Given the description of an element on the screen output the (x, y) to click on. 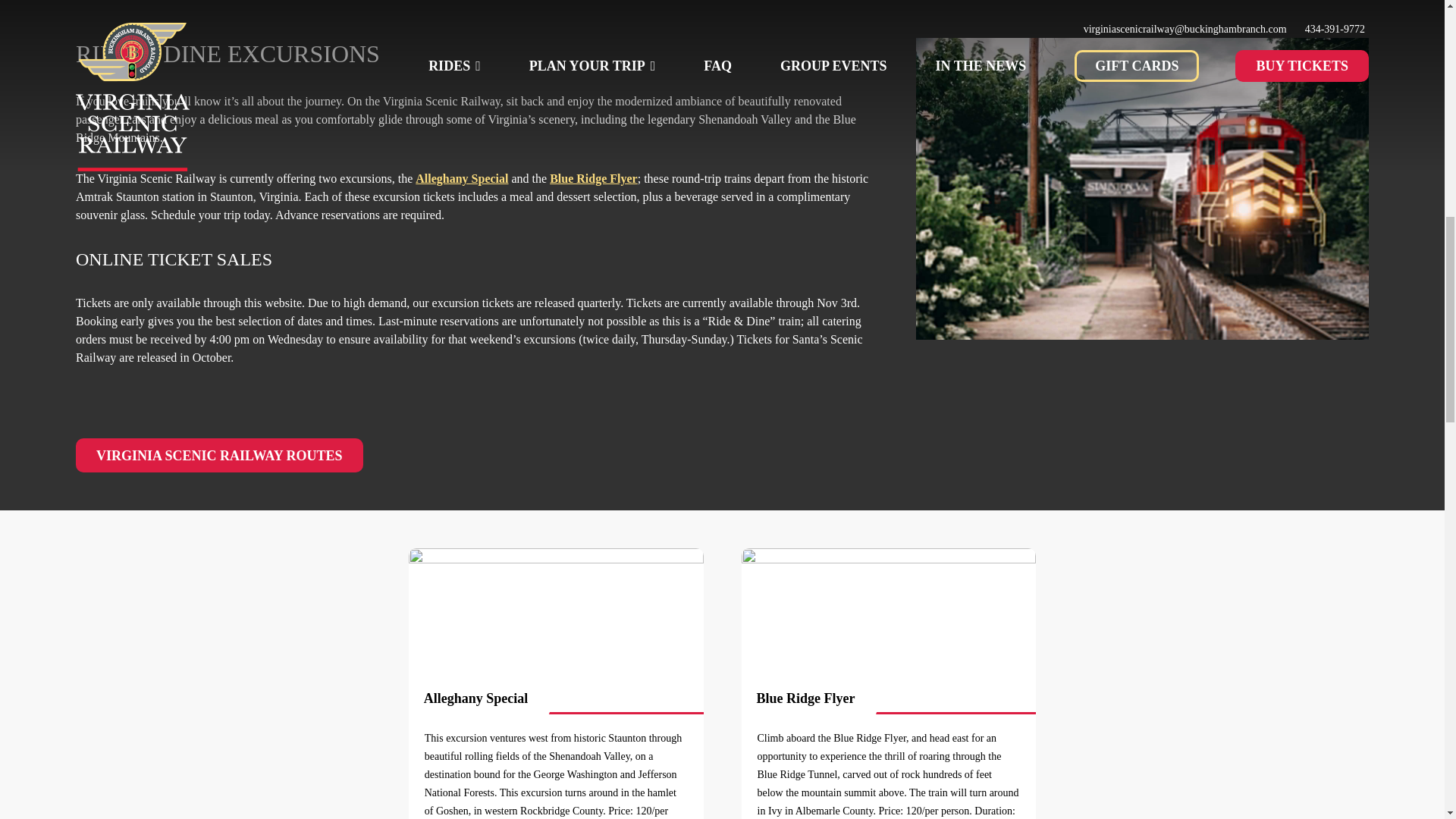
Blue Ridge Flyer (593, 178)
Alleghany Special (461, 178)
VIRGINIA SCENIC RAILWAY ROUTES (218, 455)
FareHarbor (1342, 64)
